Given the description of an element on the screen output the (x, y) to click on. 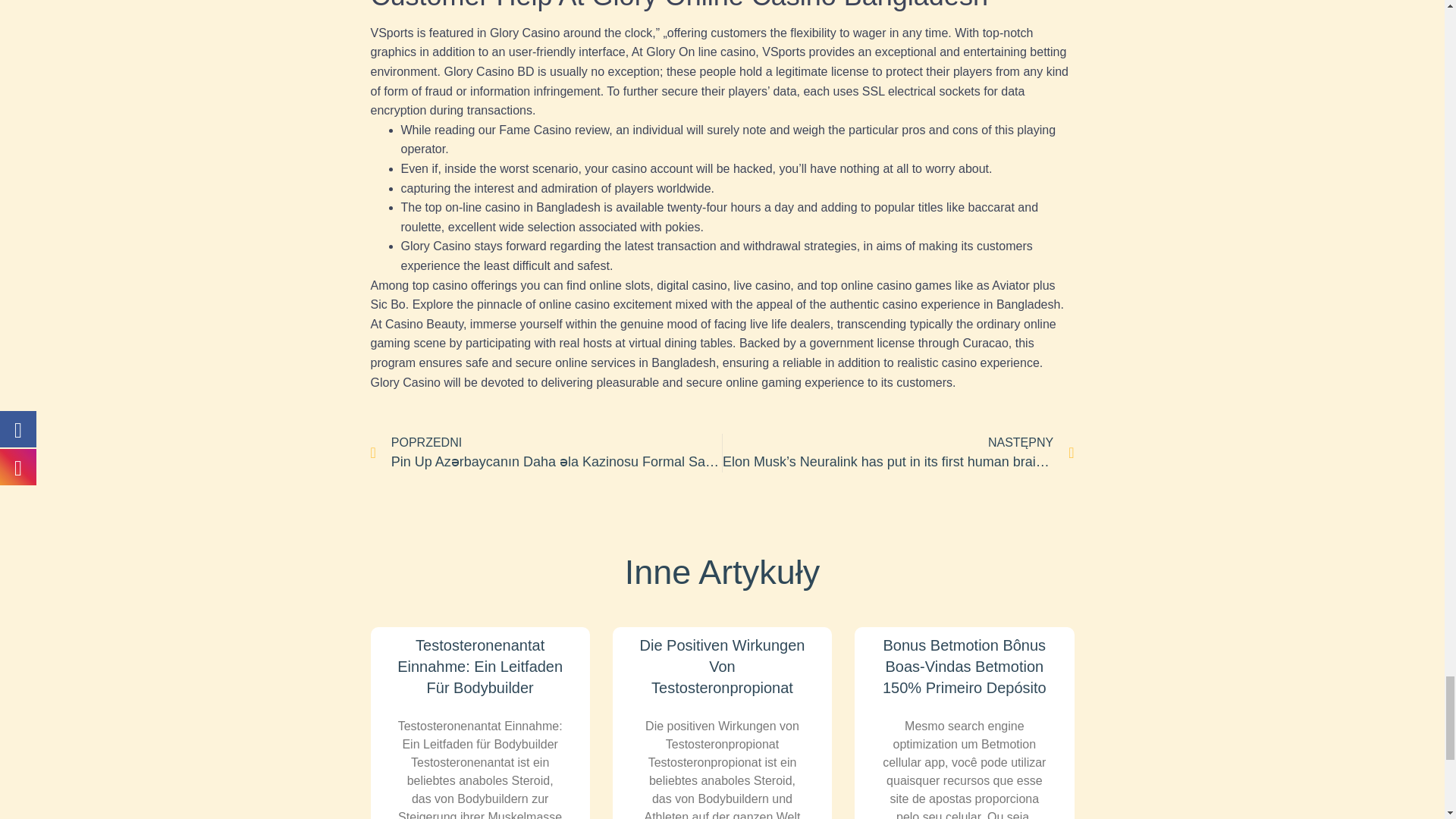
Die Positiven Wirkungen Von Testosteronpropionat (722, 666)
